Given the description of an element on the screen output the (x, y) to click on. 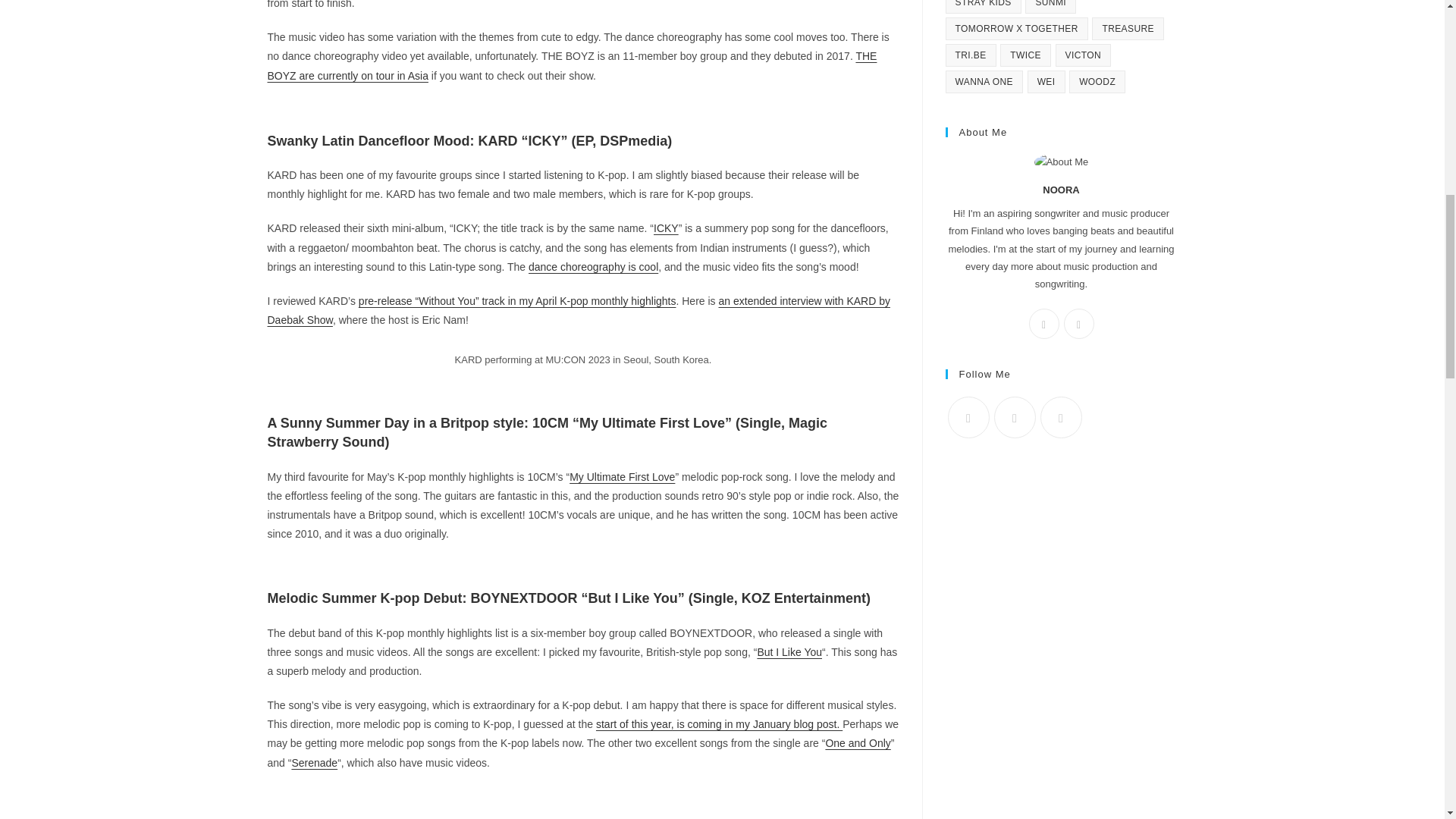
an extended interview with KARD by Daebak Show (577, 309)
Serenade (314, 762)
One and Only (857, 743)
dance choreography is cool (593, 266)
start of this year, is coming in my January blog post. (719, 724)
THE BOYZ are currently on tour in Asia (571, 65)
But I Like You (789, 652)
ICKY (665, 227)
My Ultimate First Love (622, 476)
